Given the description of an element on the screen output the (x, y) to click on. 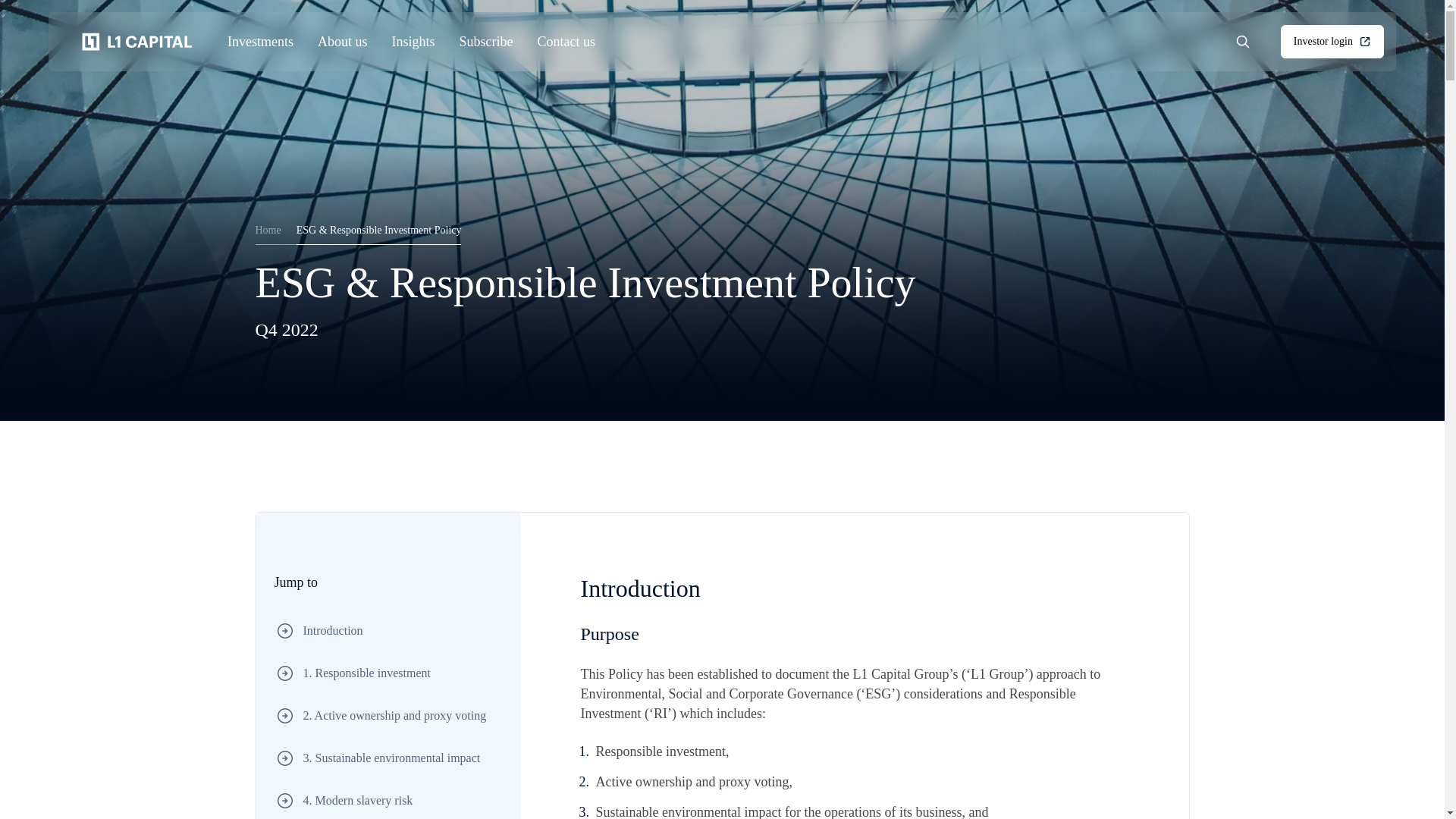
Subscribe (486, 41)
Contact us (566, 41)
About us (342, 41)
Insights (413, 41)
Introduction (387, 630)
Investments (260, 41)
Open Search (1251, 41)
2. Active ownership and proxy voting (1332, 41)
1. Responsible investment (387, 715)
Home (387, 672)
4. Modern slavery risk (274, 230)
Home (387, 799)
3. Sustainable environmental impact (137, 41)
